Given the description of an element on the screen output the (x, y) to click on. 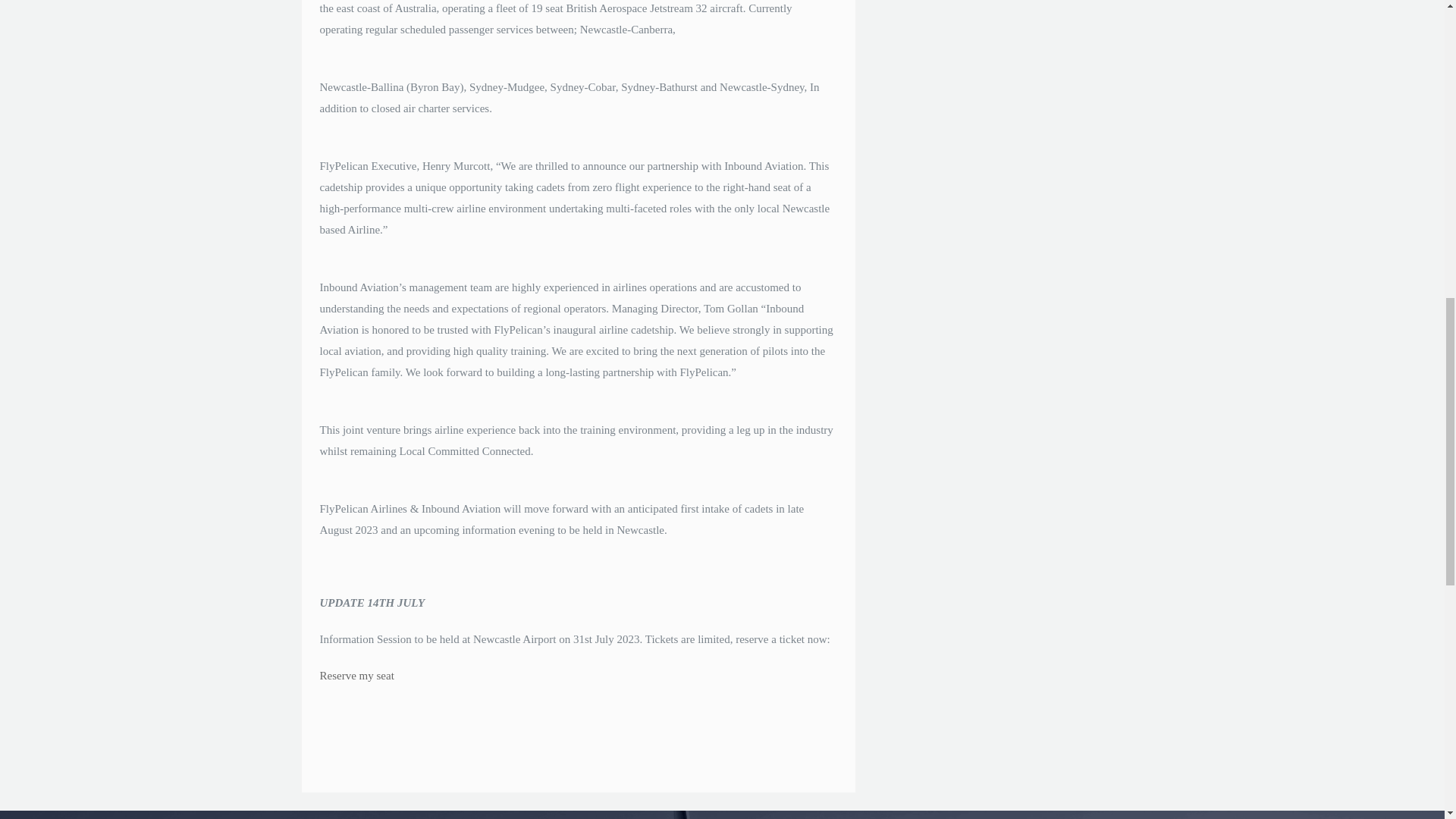
Reserve my seat (357, 675)
